Given the description of an element on the screen output the (x, y) to click on. 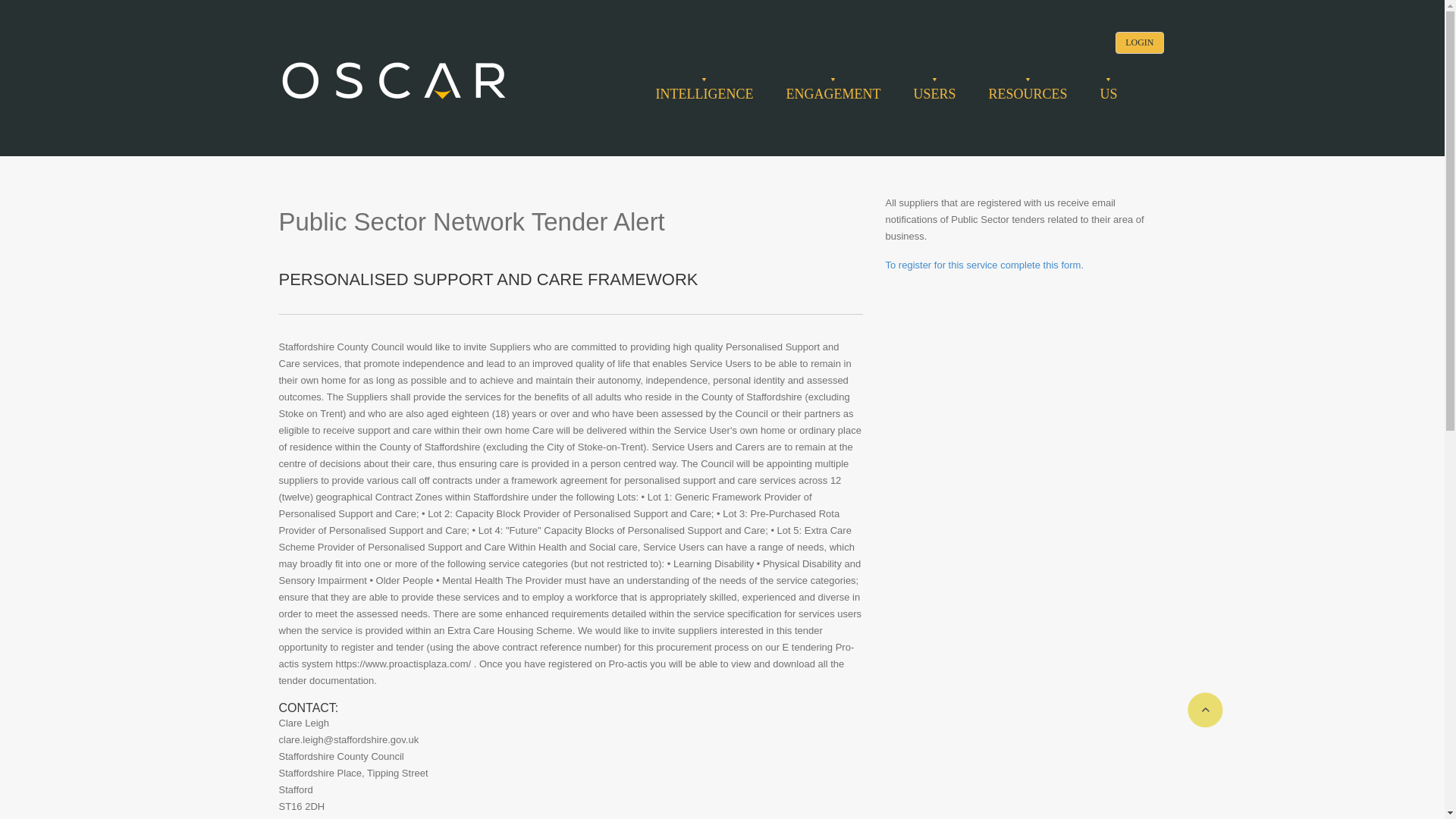
To register for this service complete this form. (984, 265)
USERS (933, 94)
INTELLIGENCE (703, 94)
RESOURCES (1027, 94)
US (1107, 94)
ENGAGEMENT (833, 94)
LOGIN (1139, 42)
